Given the description of an element on the screen output the (x, y) to click on. 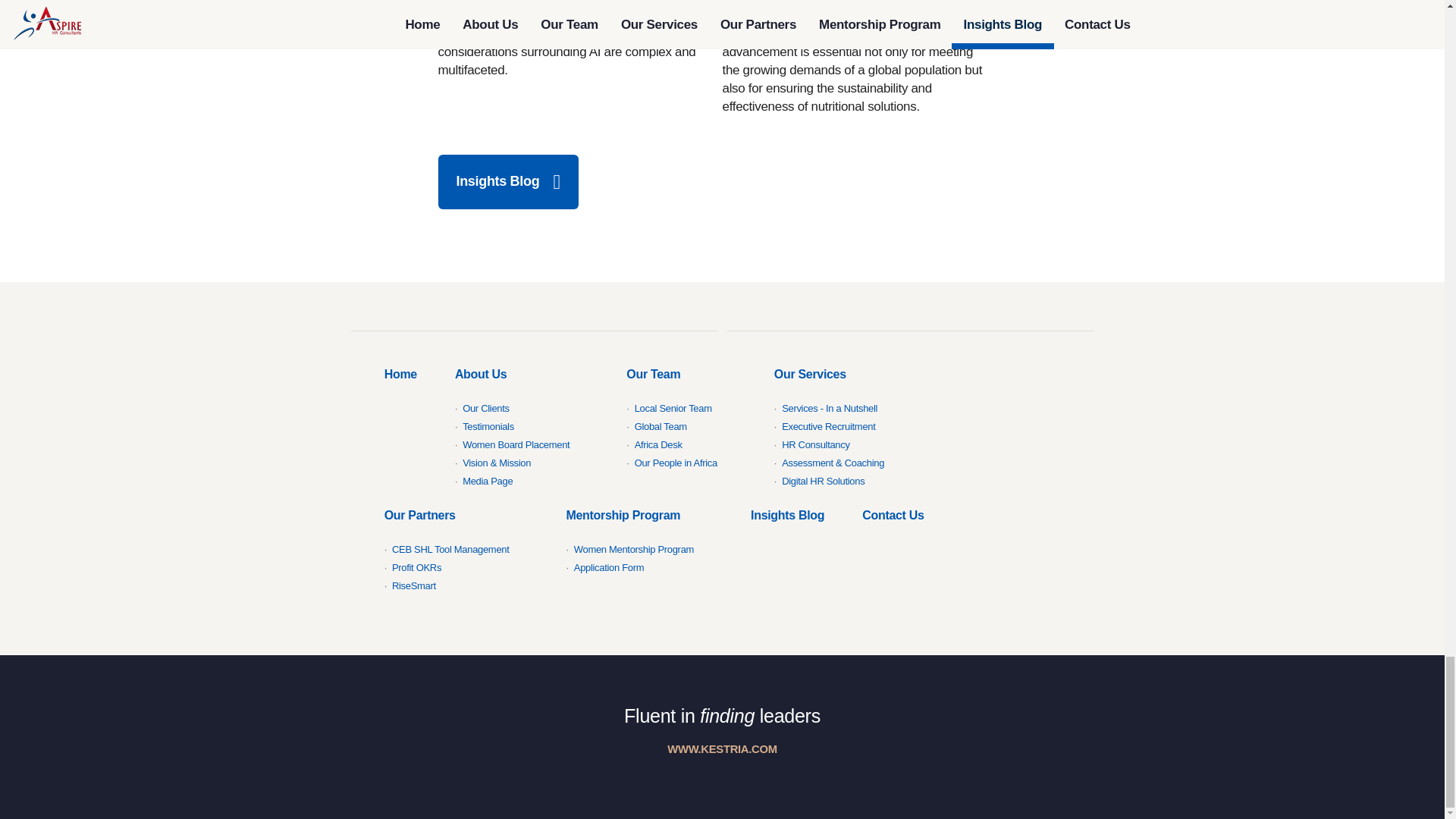
About Us (521, 425)
Insights Blog (508, 181)
Home (400, 374)
Our Clients (486, 408)
